Given the description of an element on the screen output the (x, y) to click on. 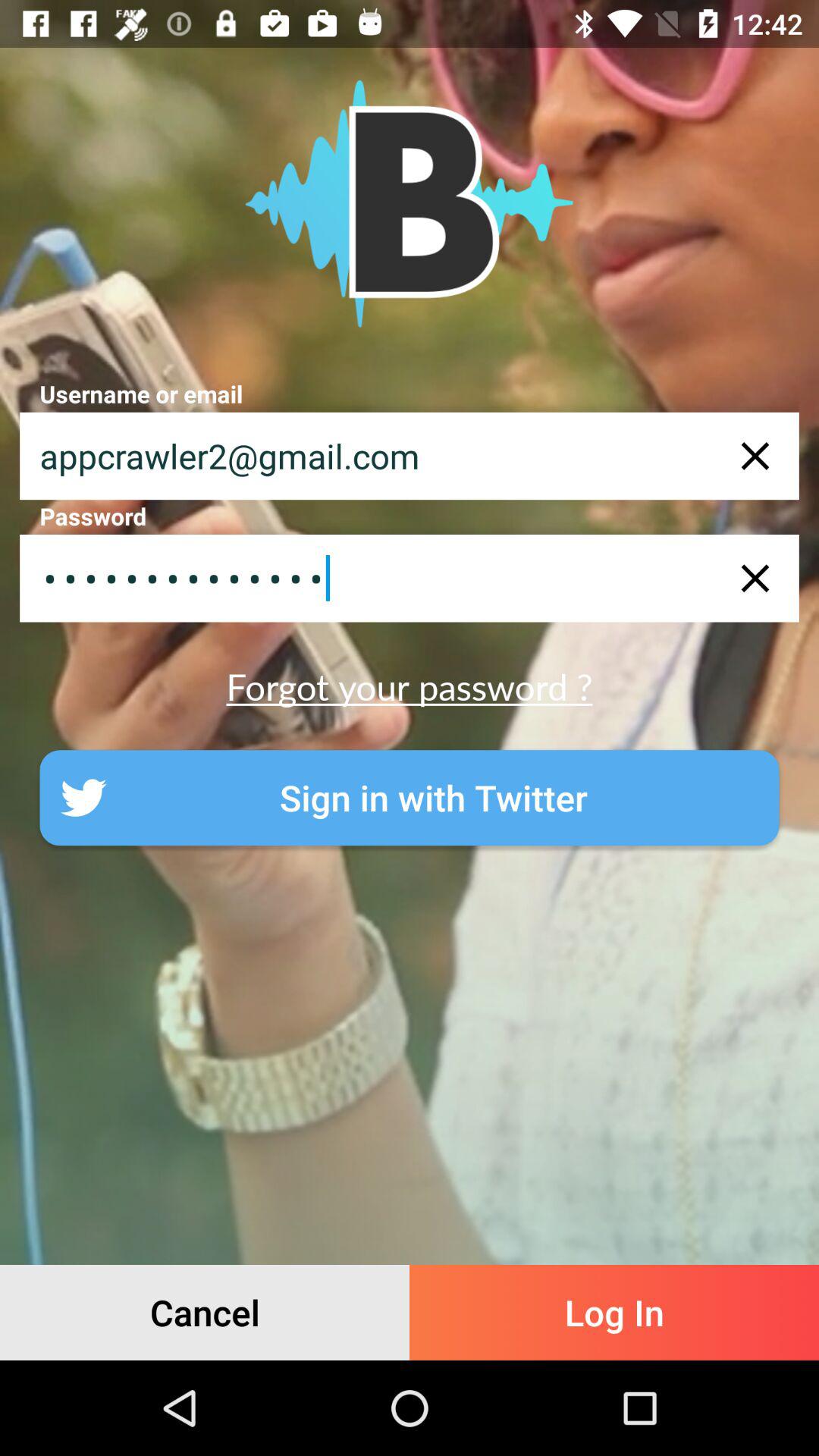
choose the icon to the right of the cancel icon (614, 1312)
